Given the description of an element on the screen output the (x, y) to click on. 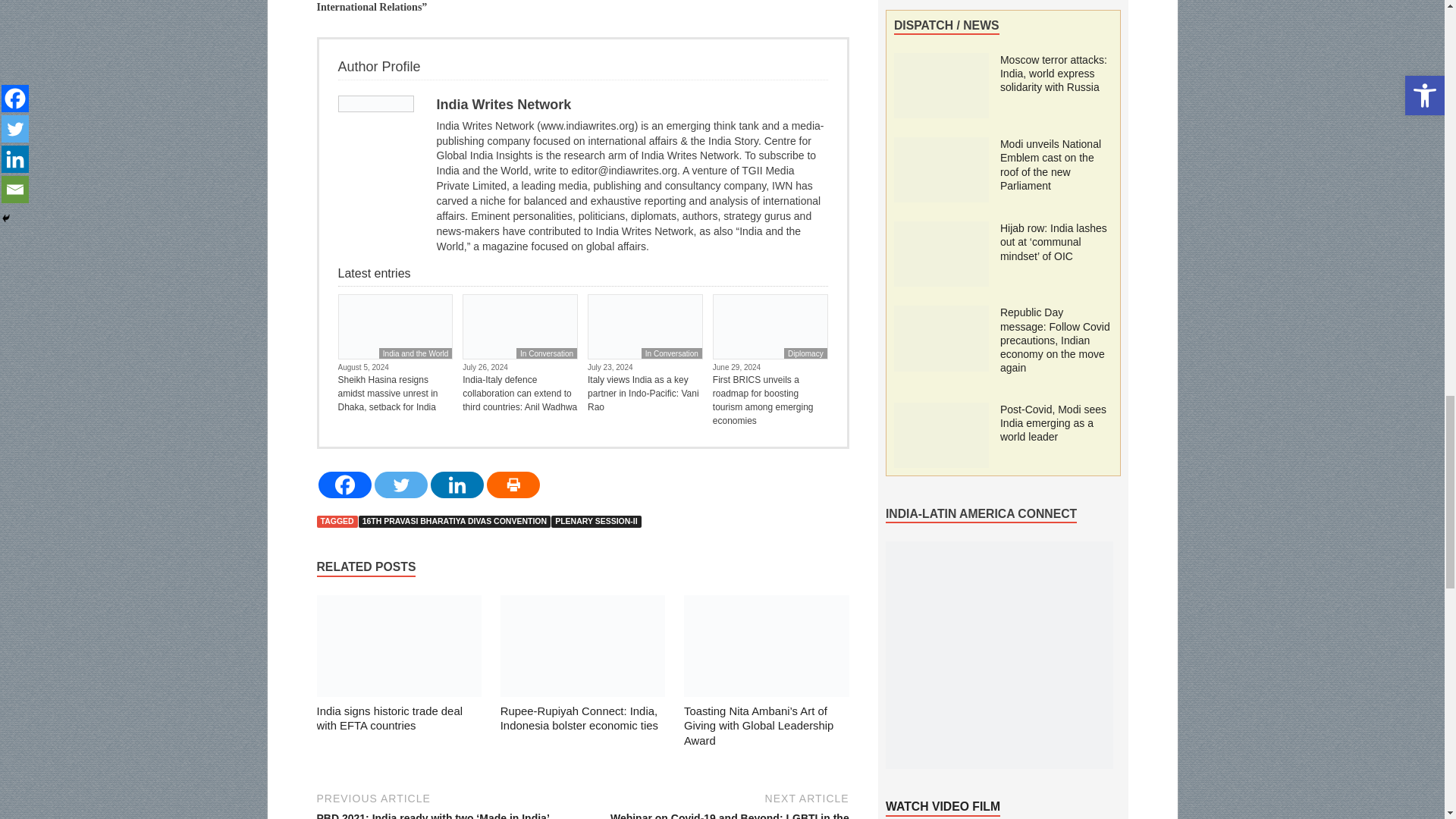
India signs historic trade deal with EFTA countries (390, 718)
Facebook (344, 484)
Print (513, 484)
Linkedin (456, 484)
India signs historic trade deal with EFTA countries (399, 648)
Twitter (401, 484)
